Given the description of an element on the screen output the (x, y) to click on. 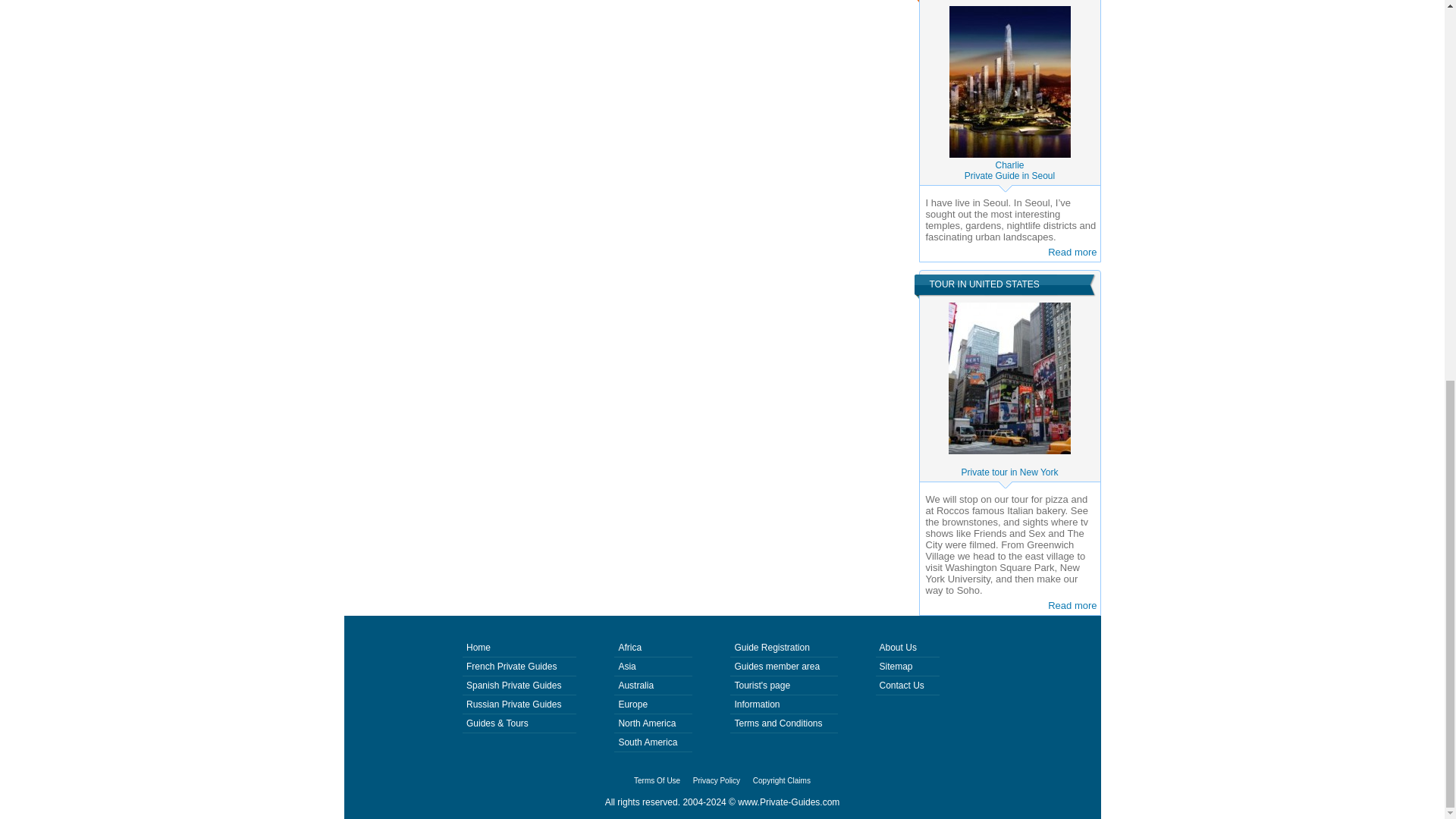
. New York. United States (1009, 378)
Charlie. Seoul. Korea South (1009, 81)
